Given the description of an element on the screen output the (x, y) to click on. 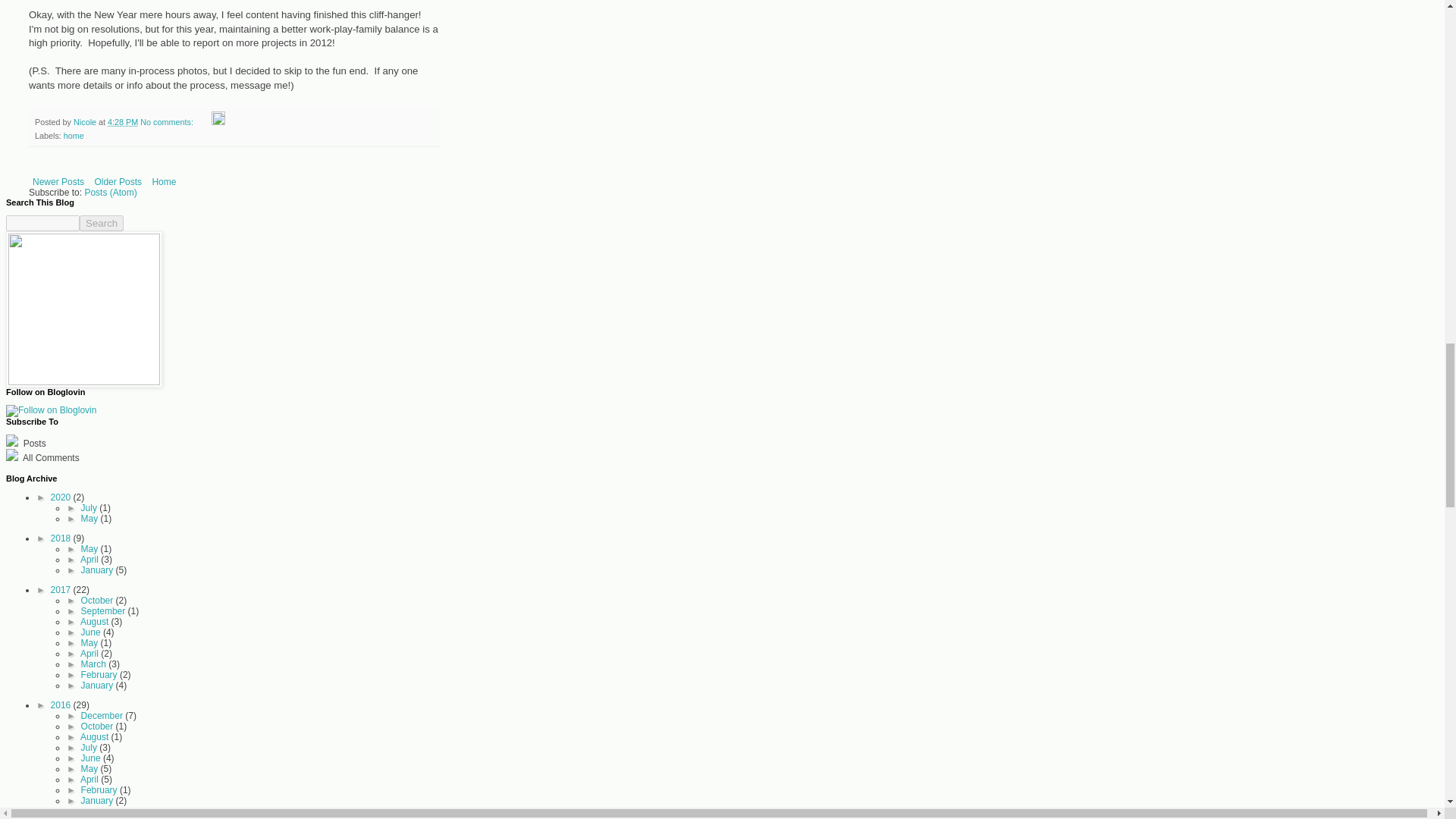
Home (163, 181)
May (90, 518)
July (90, 507)
2020 (62, 497)
Search (101, 222)
Edit Post (218, 121)
author profile (86, 121)
search (101, 222)
No comments: (167, 121)
search (42, 222)
Email Post (203, 121)
Older Posts (117, 181)
home (74, 135)
Nicole (86, 121)
Newer Posts (58, 181)
